Given the description of an element on the screen output the (x, y) to click on. 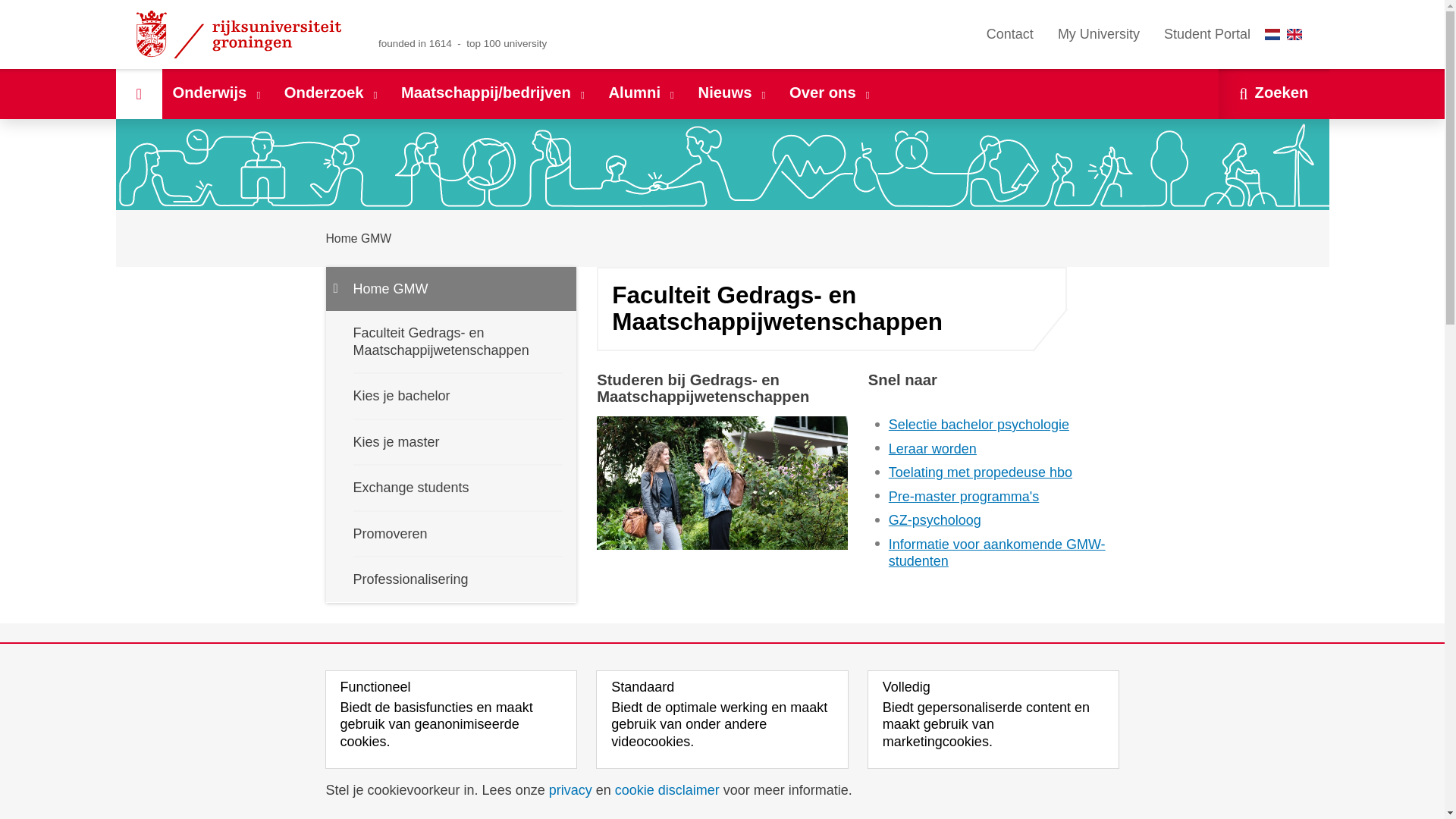
Onderwijs (217, 93)
Contact (1009, 34)
Onderzoek (331, 93)
Nederlands (1272, 33)
Rijksuniversiteit Groningen (241, 34)
Home (138, 93)
Student Portal (1206, 34)
My University (1098, 34)
Taal selectie (1286, 34)
